Given the description of an element on the screen output the (x, y) to click on. 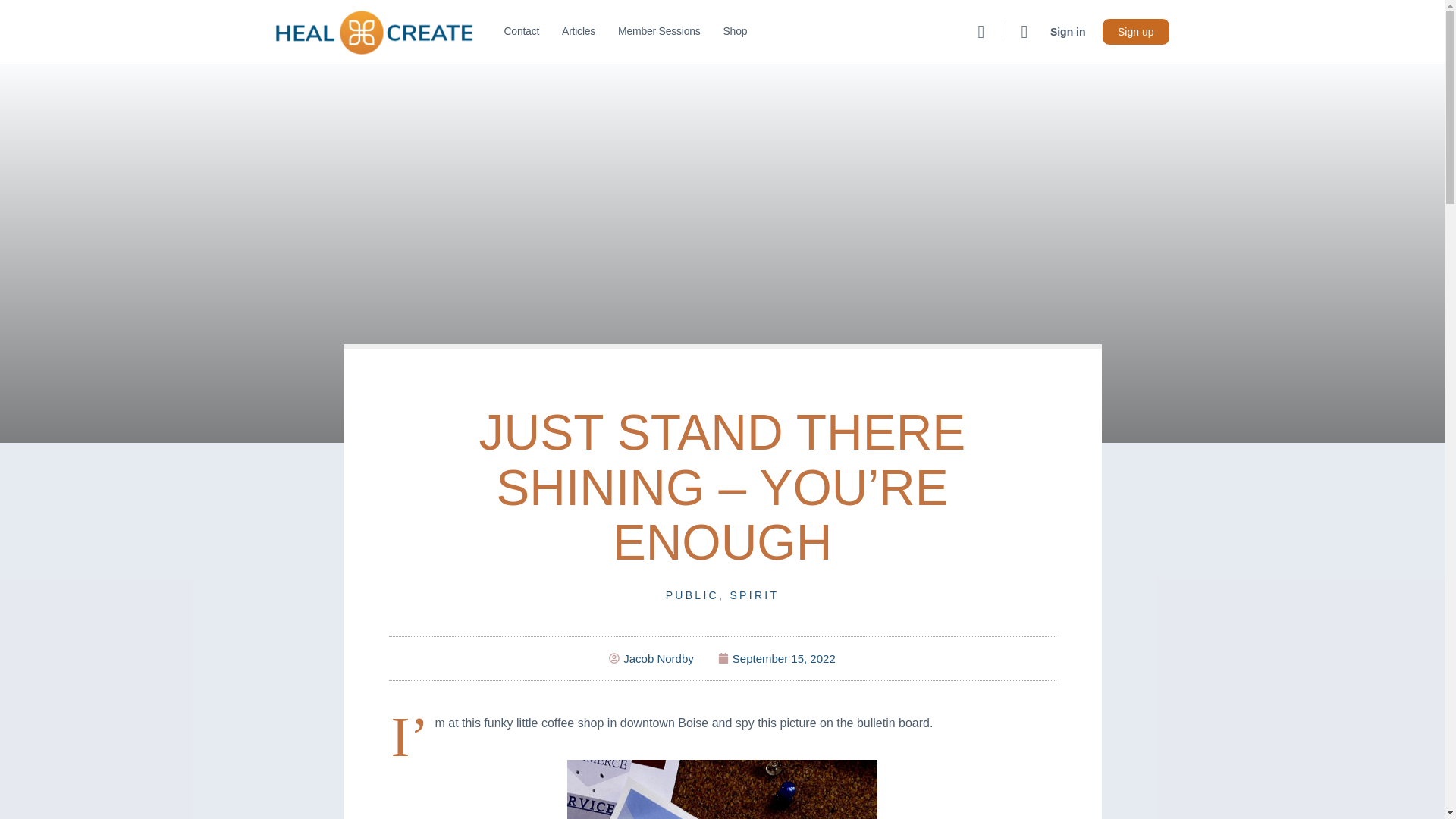
Sign in (1067, 31)
Member Sessions (658, 31)
PUBLIC (692, 594)
SPIRIT (753, 594)
September 15, 2022 (776, 658)
Sign up (1135, 31)
Jacob Nordby (651, 658)
